Given the description of an element on the screen output the (x, y) to click on. 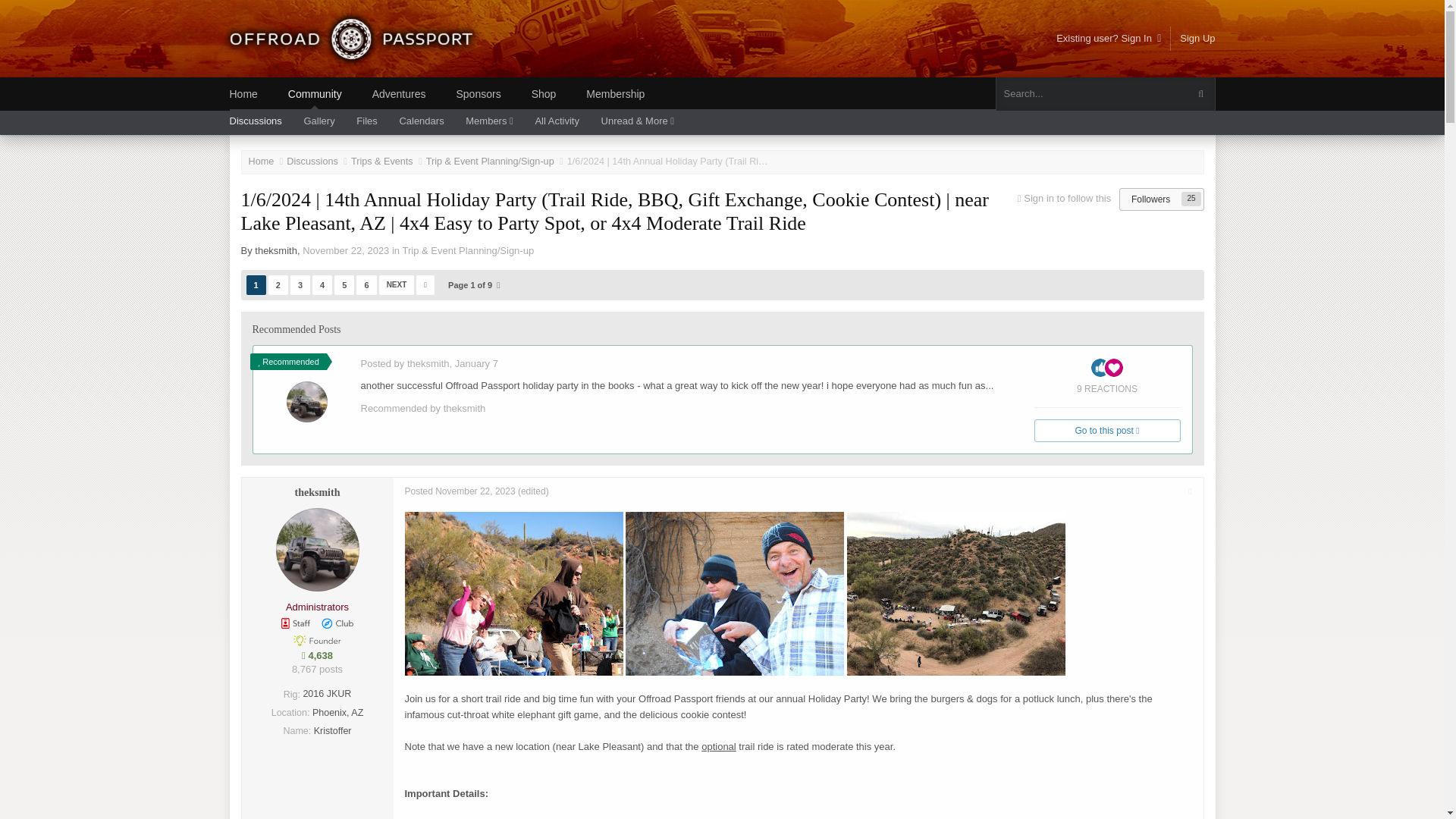
Go to theksmith's profile (306, 401)
Go to theksmith's profile (428, 363)
Existing user? Sign In   (1108, 38)
See who follows this (1149, 199)
Shop (558, 93)
Gallery (327, 122)
Go to the sign in page (1066, 197)
Calendars (430, 122)
Like (1099, 367)
All Activity (566, 122)
Home (267, 161)
Go to theksmith's profile (275, 250)
Next page (396, 284)
Go to theksmith's profile (465, 408)
See who follows this (1189, 198)
